Given the description of an element on the screen output the (x, y) to click on. 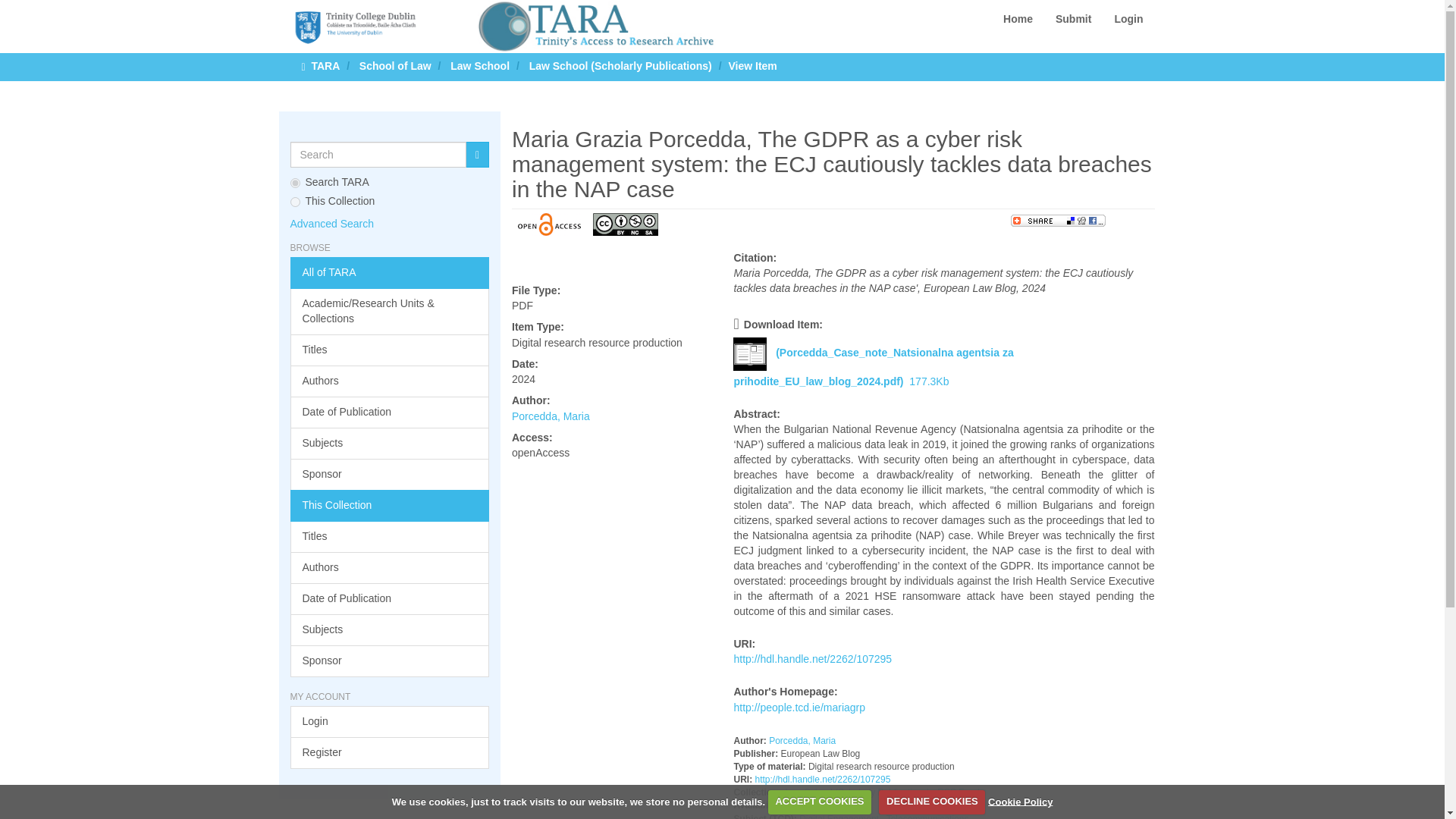
Go (477, 154)
This Collection (389, 505)
School of Law (394, 65)
Authors (389, 381)
Login (1128, 18)
Submit (1072, 18)
Register (389, 753)
All of TARA (389, 273)
Sponsor (389, 661)
Titles (389, 350)
Login (389, 721)
Titles (389, 536)
TARA (325, 65)
Subjects (389, 630)
Home (1017, 18)
